Given the description of an element on the screen output the (x, y) to click on. 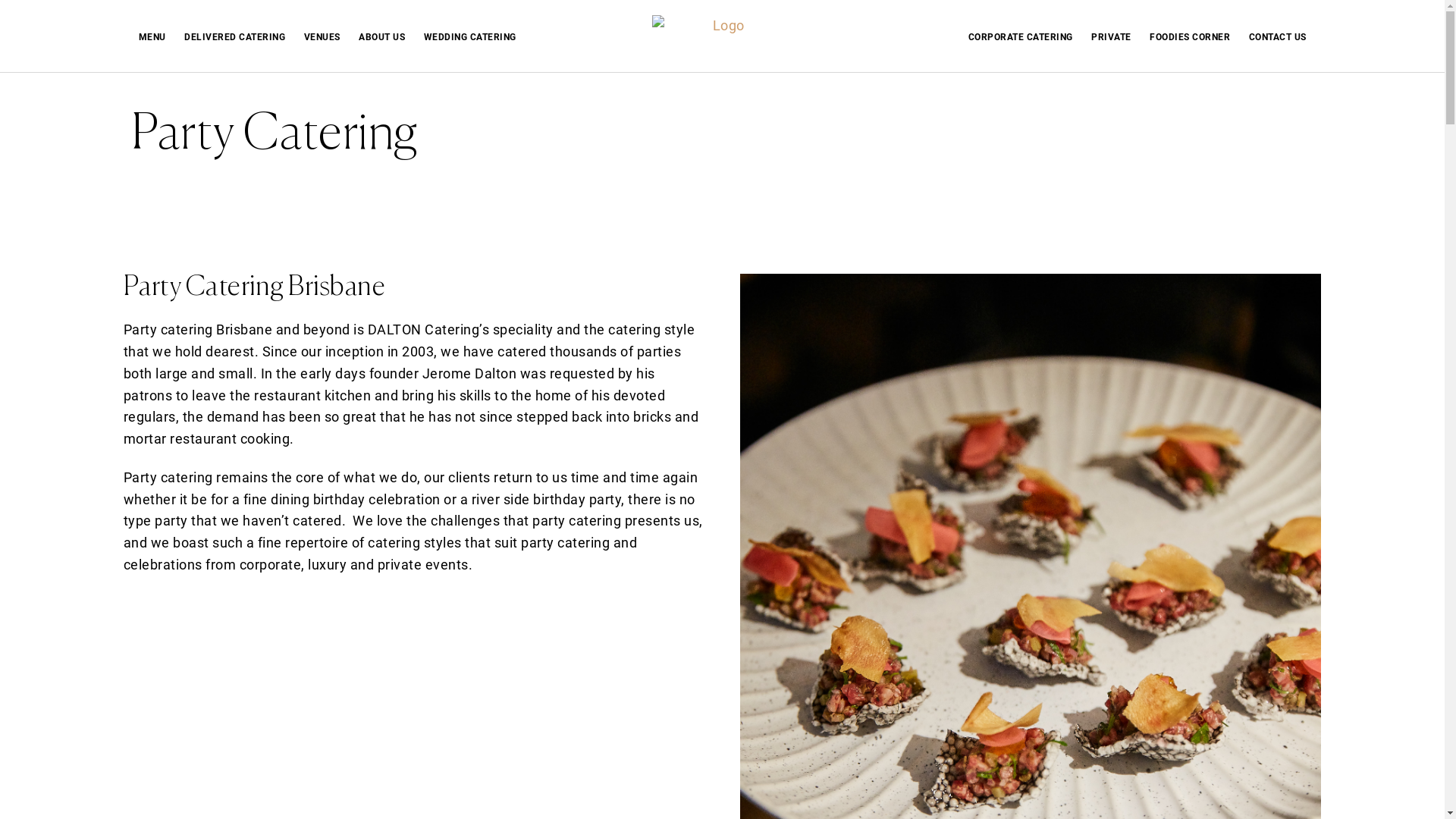
MENU Element type: text (151, 36)
CORPORATE CATERING Element type: text (1019, 36)
WEDDING CATERING Element type: text (469, 36)
DELIVERED CATERING Element type: text (234, 36)
FOODIES CORNER Element type: text (1189, 36)
PRIVATE Element type: text (1111, 36)
VENUES Element type: text (321, 36)
ABOUT US Element type: text (381, 36)
CONTACT US Element type: text (1276, 36)
